Given the description of an element on the screen output the (x, y) to click on. 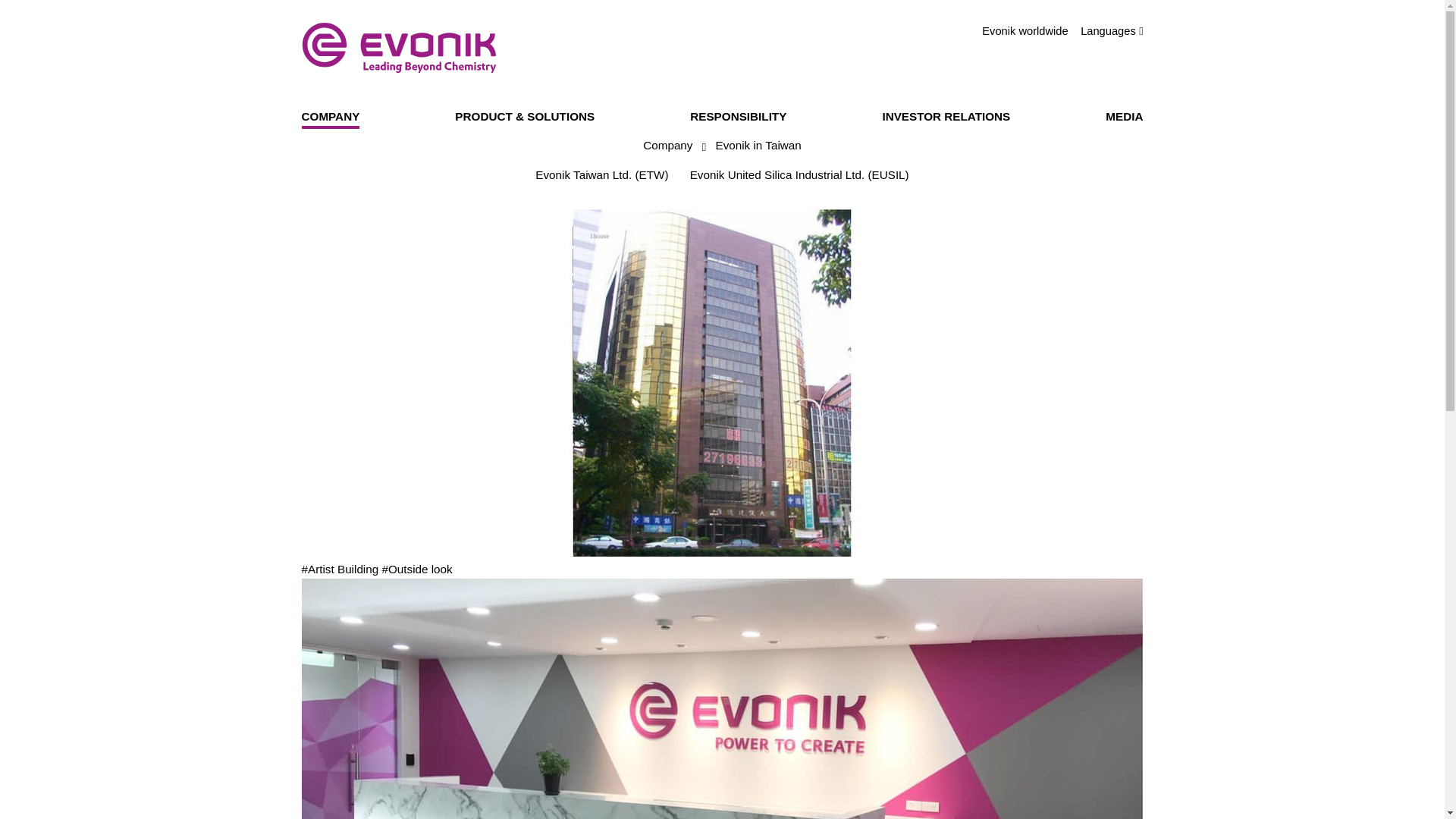
Company (330, 118)
Company (668, 147)
COMPANY (330, 118)
INVESTOR RELATIONS (946, 118)
RESPONSIBILITY (738, 118)
Evonik Industries AG (398, 47)
Responsibility (738, 118)
Company (668, 147)
Evonik worldwide (1024, 31)
Evonik in Taiwan (757, 147)
